Given the description of an element on the screen output the (x, y) to click on. 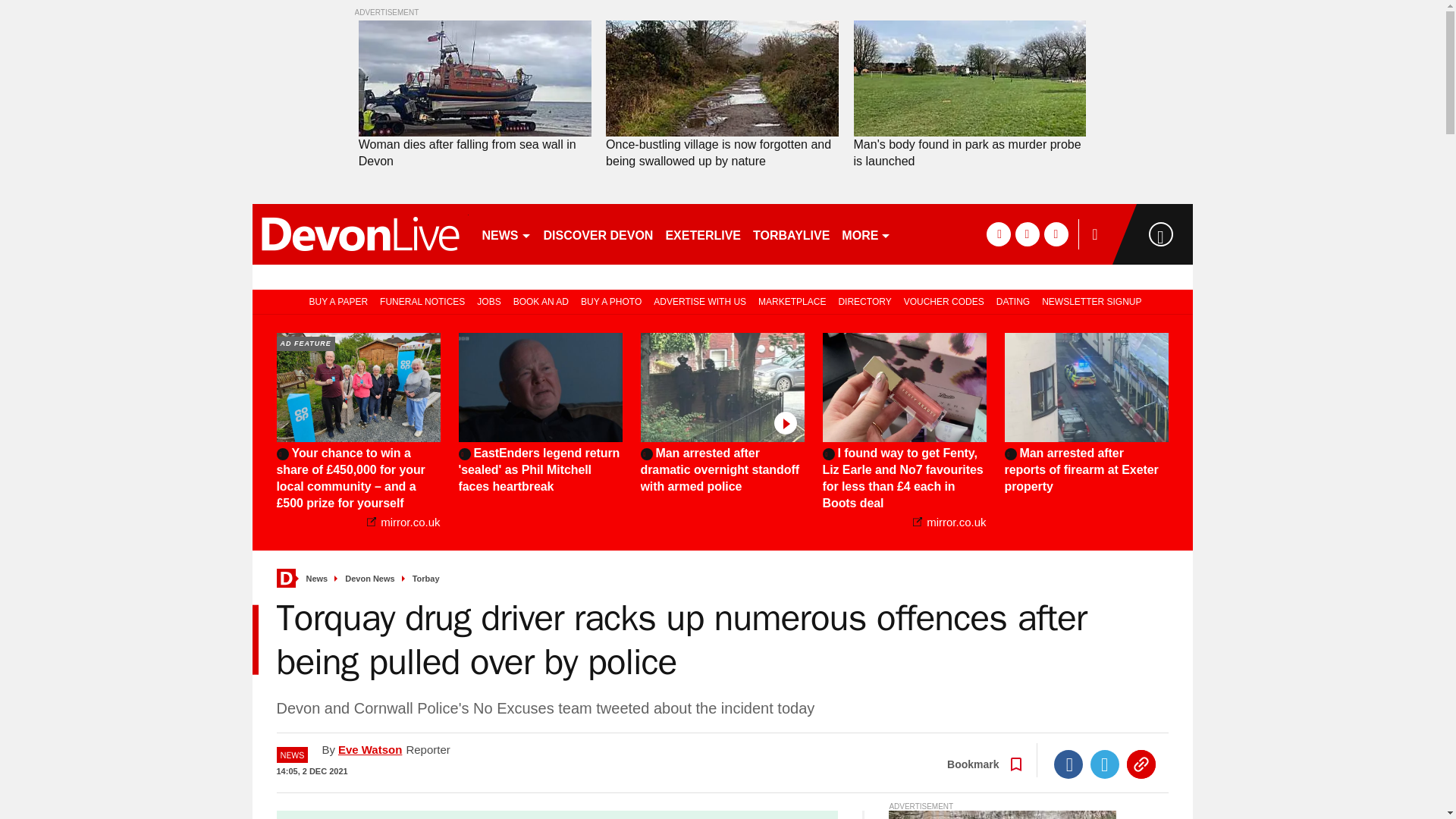
NEWS (506, 233)
Man's body found in park as murder probe is launched (969, 152)
Woman dies after falling from sea wall in Devon (474, 152)
Twitter (1104, 764)
Man's body found in park as murder probe is launched (969, 78)
TORBAYLIVE (790, 233)
Woman dies after falling from sea wall in Devon (474, 152)
DISCOVER DEVON (598, 233)
Facebook (1068, 764)
MORE (865, 233)
devonlive (359, 233)
EXETERLIVE (702, 233)
facebook (997, 233)
Man's body found in park as murder probe is launched (969, 152)
